Given the description of an element on the screen output the (x, y) to click on. 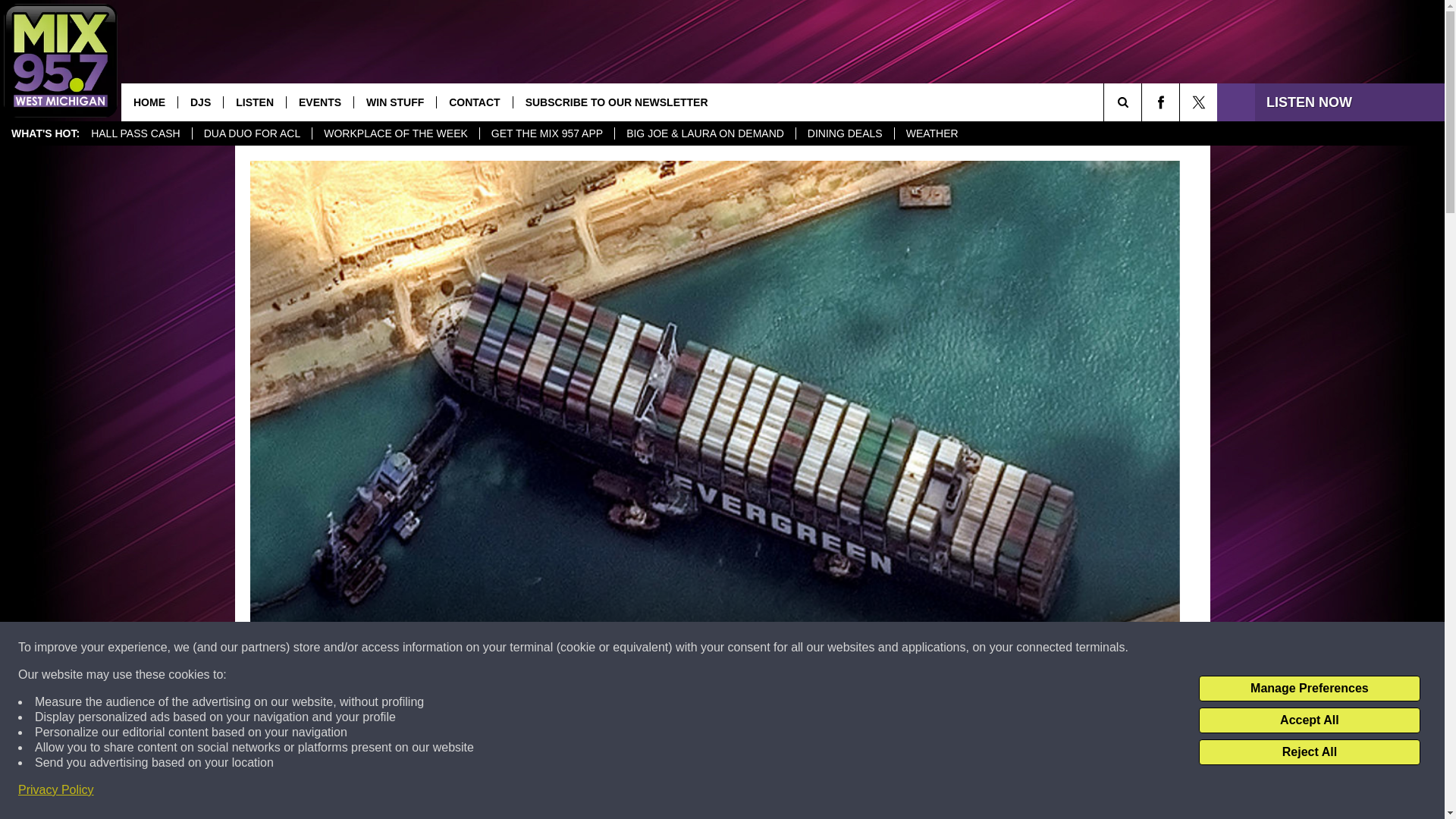
Share on Twitter (912, 791)
DJS (199, 102)
LISTEN (253, 102)
EVENTS (319, 102)
WORKPLACE OF THE WEEK (395, 133)
HOME (148, 102)
WIN STUFF (394, 102)
DINING DEALS (843, 133)
Reject All (1309, 751)
GET THE MIX 957 APP (546, 133)
DUA DUO FOR ACL (252, 133)
Share on Facebook (517, 791)
HALL PASS CASH (136, 133)
CONTACT (473, 102)
SEARCH (1144, 102)
